Given the description of an element on the screen output the (x, y) to click on. 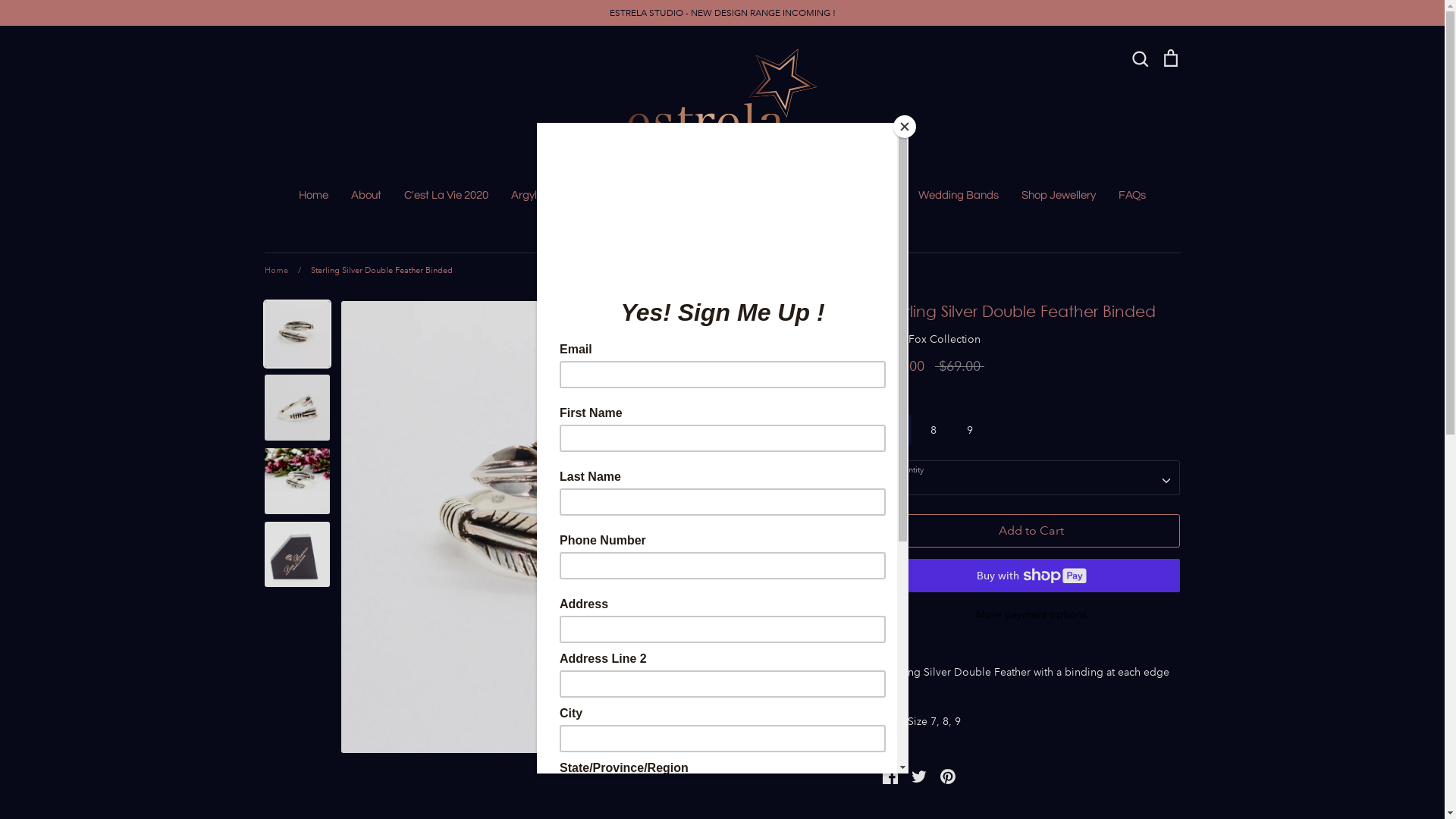
Home Element type: text (275, 270)
Gemstones Element type: text (753, 225)
About Element type: text (366, 194)
9 Element type: text (969, 429)
7 Element type: text (896, 429)
Share on Facebook Element type: text (889, 773)
Search Element type: text (1139, 58)
Pin it Element type: text (947, 773)
More payment options Element type: text (1031, 614)
Argyle Pink Diamonds Australia Element type: text (589, 194)
Wedding Bands Element type: text (958, 194)
Add to Cart Element type: text (1031, 530)
Portfolio Element type: text (682, 225)
8 Element type: text (933, 429)
Book In To See Us Element type: text (733, 194)
Cart Element type: text (1169, 58)
Shop Jewellery Element type: text (1058, 194)
/ Sterling Silver Double Feather Binded Element type: text (370, 270)
FAQs Element type: text (1131, 194)
Silva Fox Collection Element type: text (931, 338)
Engagement Rings Element type: text (847, 194)
C'est La Vie 2020 Element type: text (446, 194)
Home Element type: text (313, 194)
Share on Twitter Element type: text (918, 773)
